Given the description of an element on the screen output the (x, y) to click on. 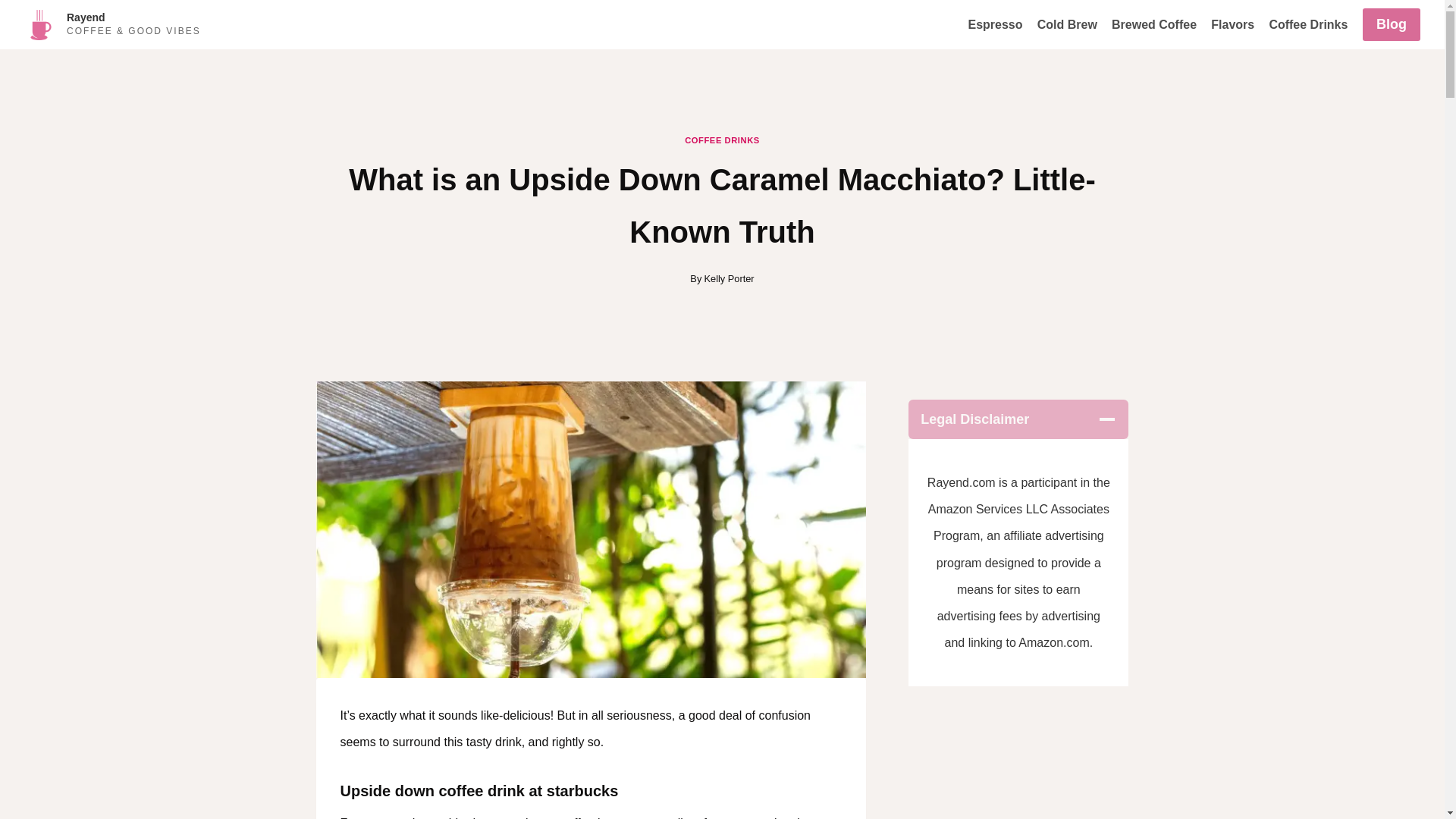
Coffee Drinks (1308, 24)
Cold Brew (1066, 24)
Blog (1391, 24)
Espresso (994, 24)
Kelly Porter (728, 278)
Brewed Coffee (1153, 24)
Flavors (1233, 24)
COFFEE DRINKS (722, 139)
